Given the description of an element on the screen output the (x, y) to click on. 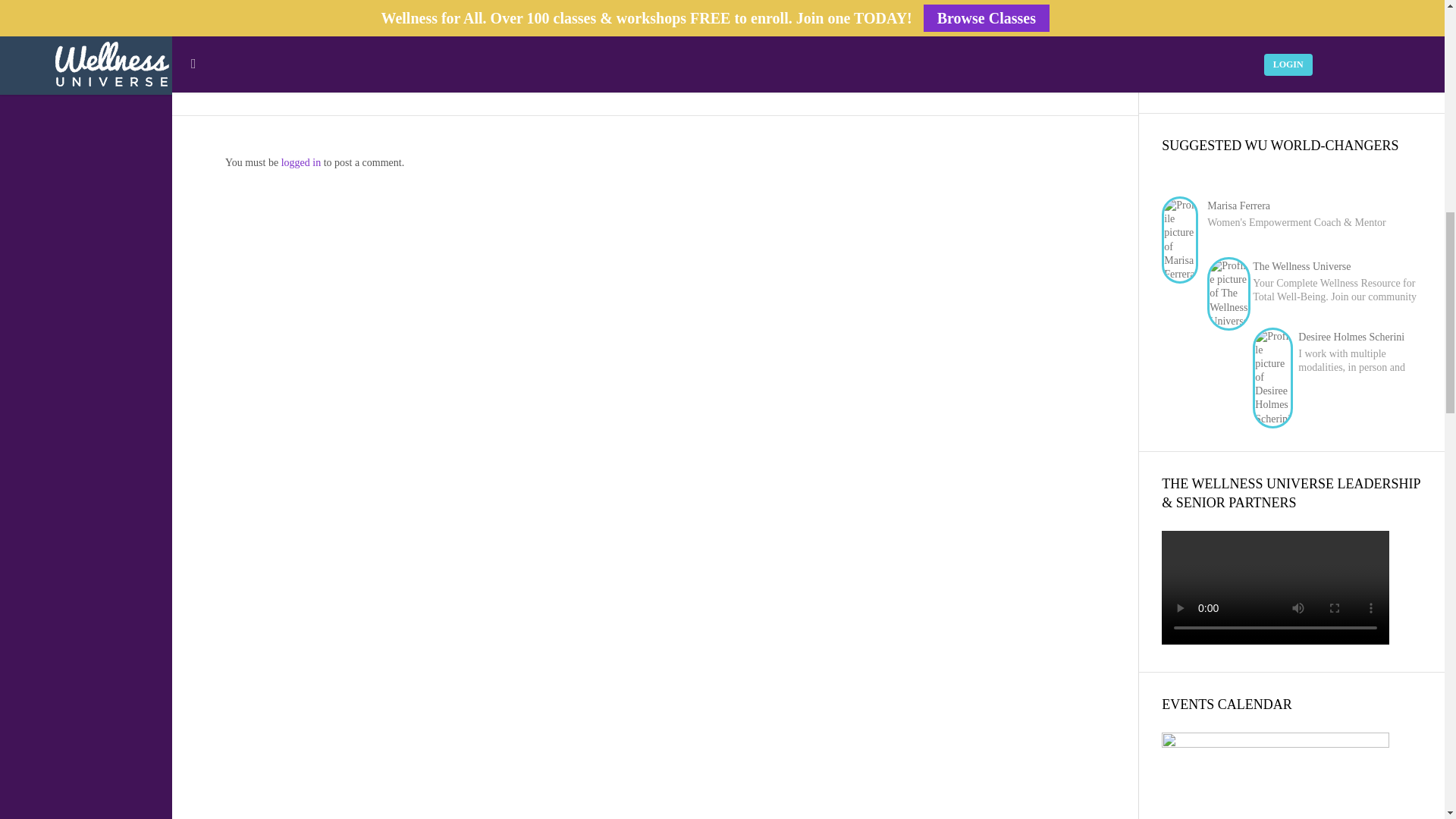
View profile for The Wellness Universe (1301, 266)
View profile for Marisa Ferrera (1238, 205)
Recommend this article (271, 62)
